Given the description of an element on the screen output the (x, y) to click on. 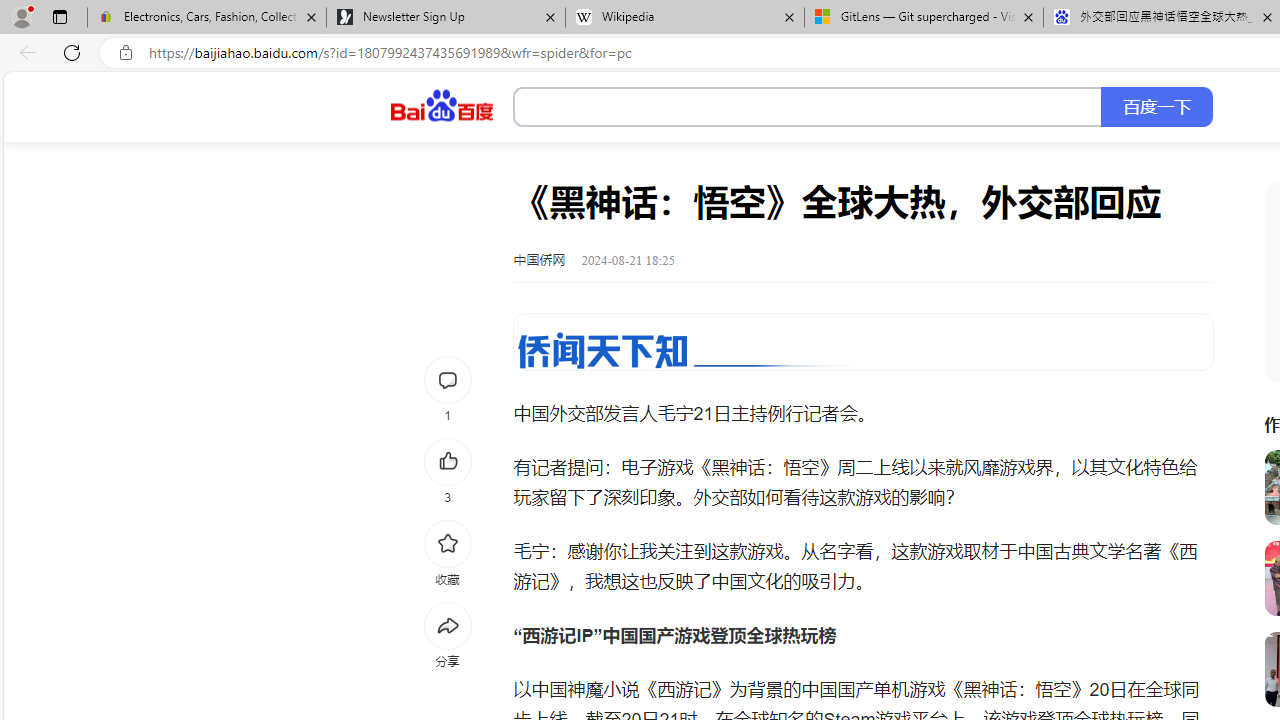
Newsletter Sign Up (445, 17)
Class: _2C4fV (808, 107)
Wikipedia (684, 17)
